Given the description of an element on the screen output the (x, y) to click on. 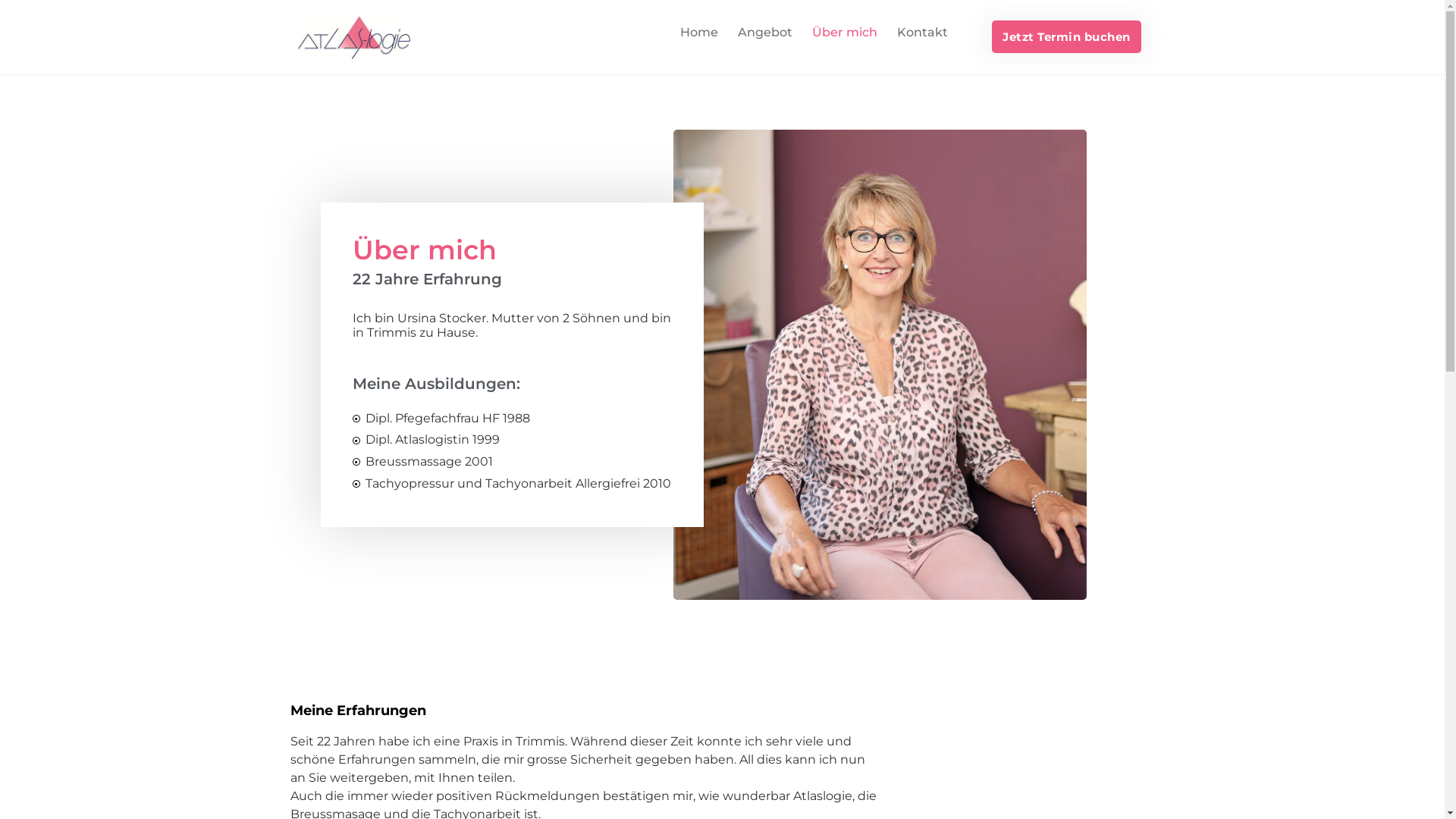
Angebot Element type: text (765, 32)
Kontakt Element type: text (922, 32)
Jetzt Termin buchen Element type: text (1066, 36)
Home Element type: text (699, 32)
